Given the description of an element on the screen output the (x, y) to click on. 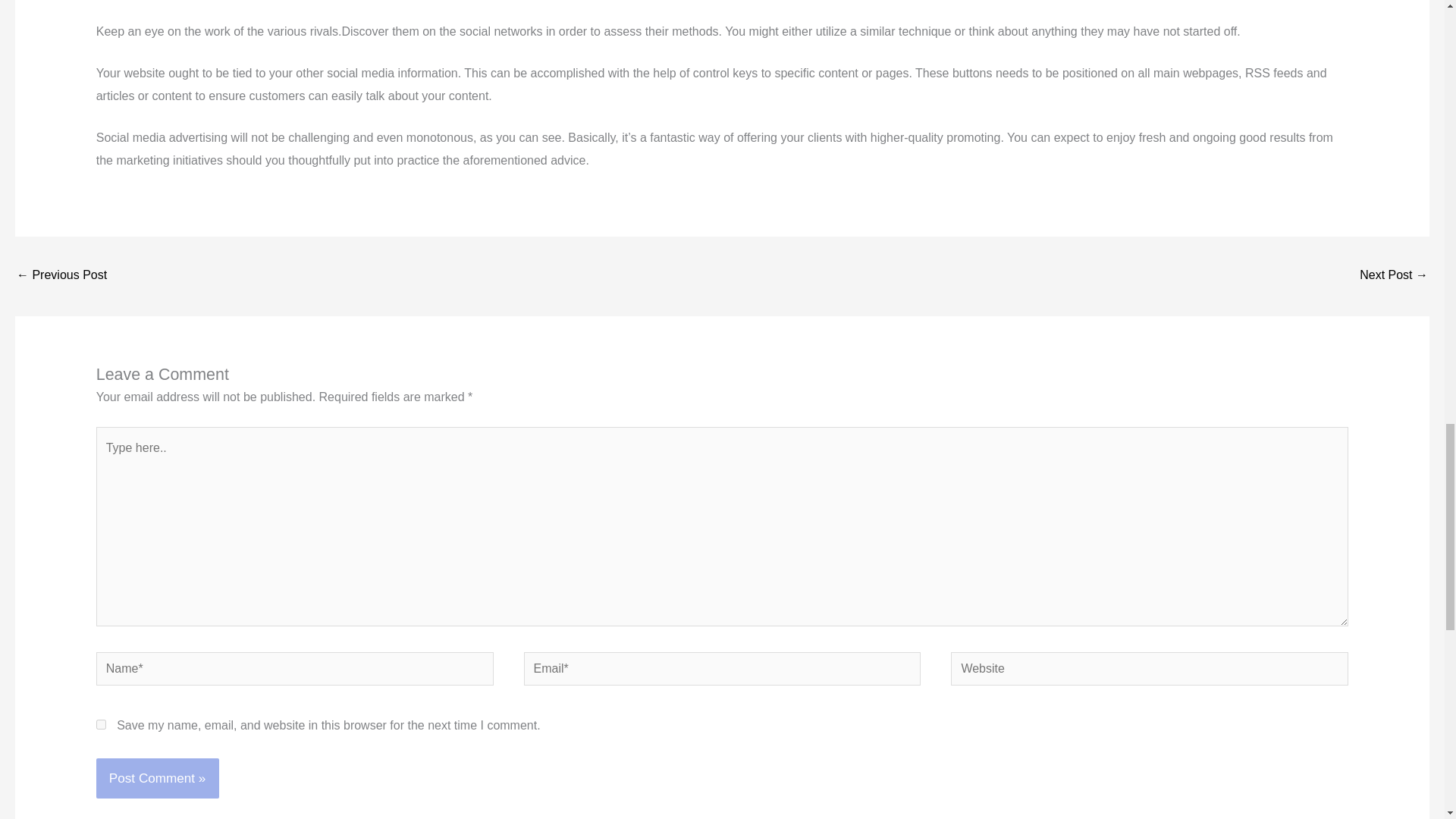
yes (101, 724)
Discovering The Benefits Of Social Networking (61, 276)
